Given the description of an element on the screen output the (x, y) to click on. 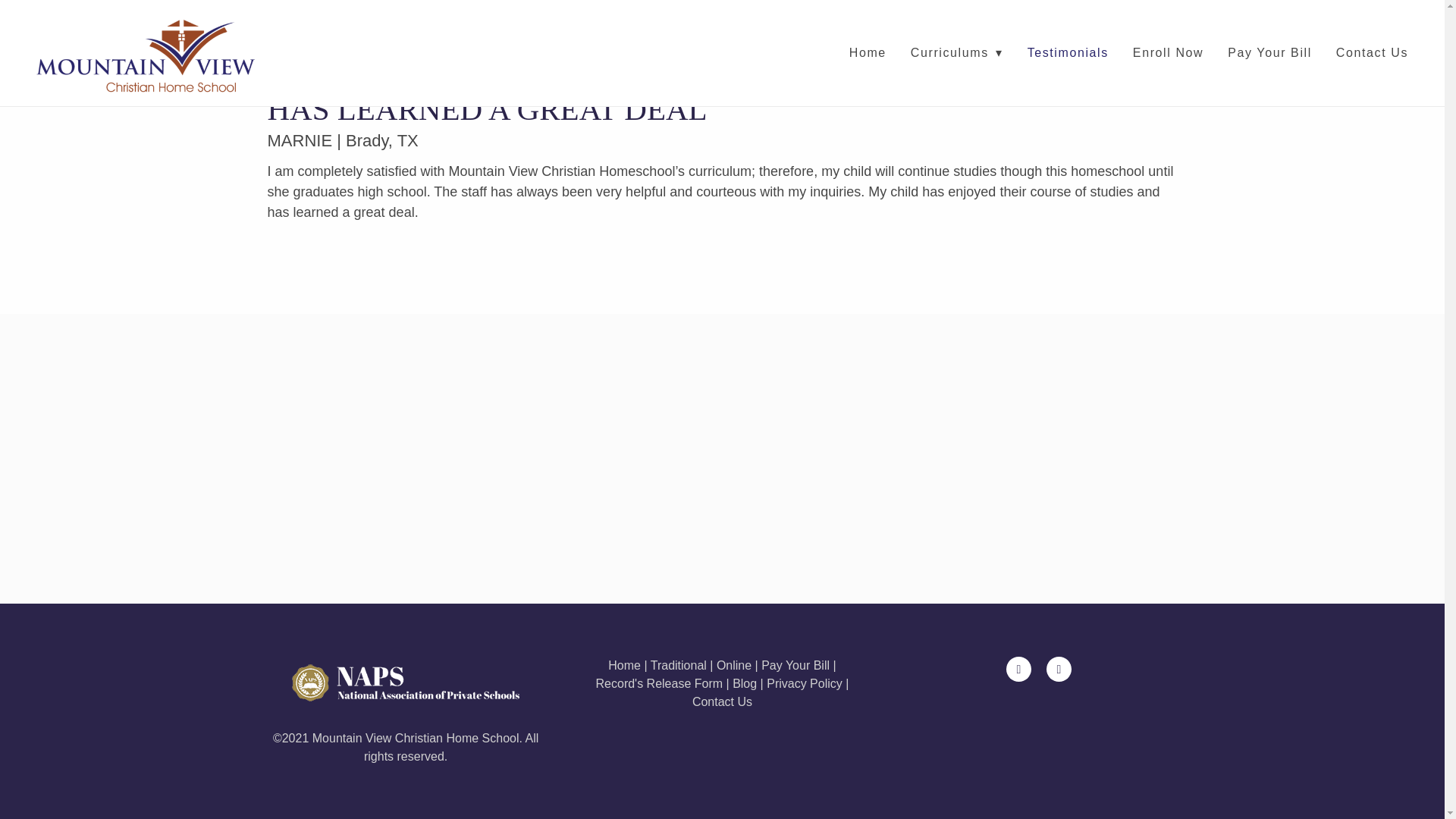
Home (625, 665)
Online (733, 665)
Testimonials (1067, 52)
Pay Your Bill (795, 665)
Pay Your Bill (1269, 52)
Contact Us (1371, 52)
Traditional (678, 665)
Blog (744, 683)
Privacy Policy (805, 683)
Enroll Now (1168, 52)
